Given the description of an element on the screen output the (x, y) to click on. 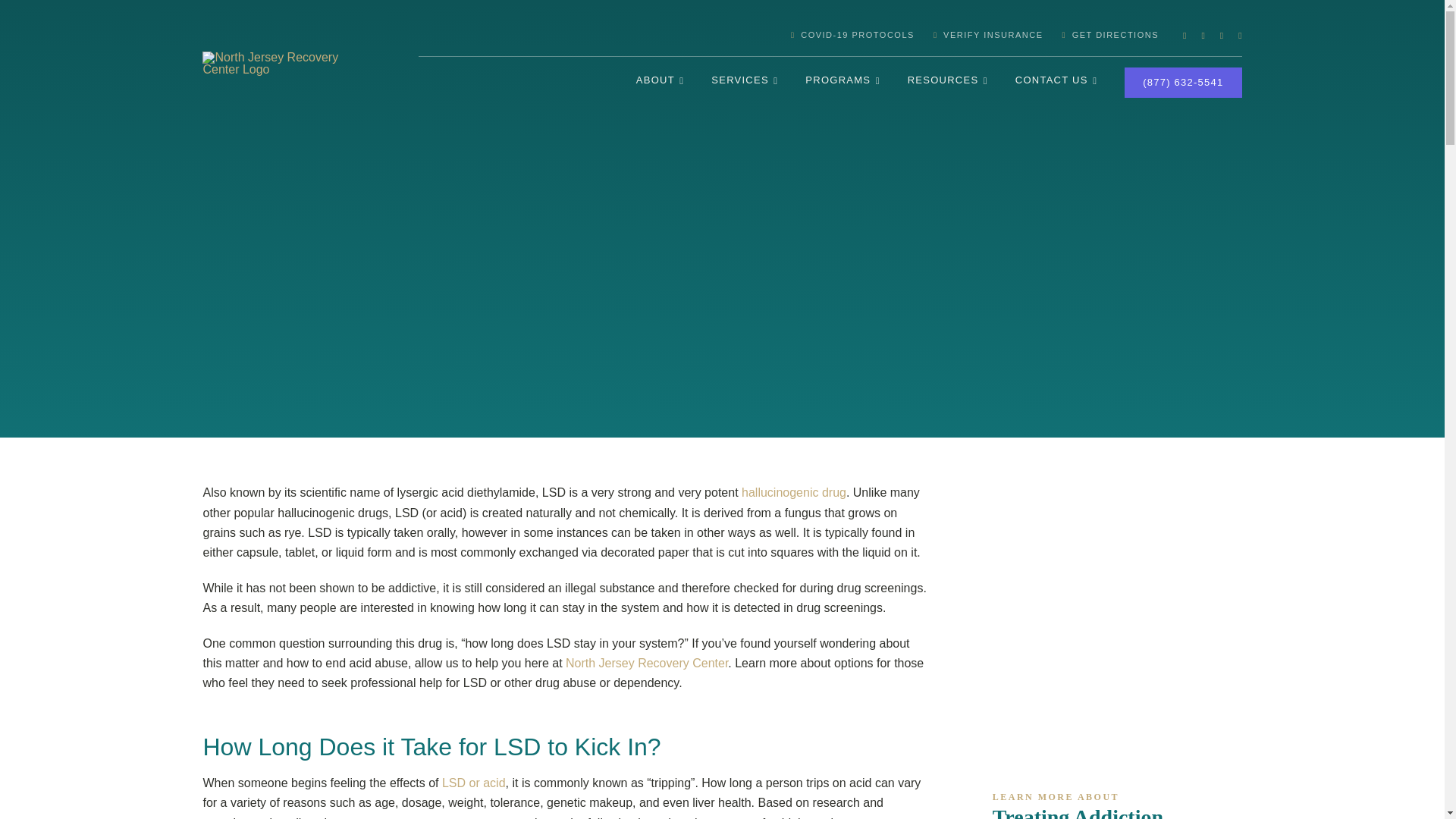
PROGRAMS (842, 82)
VERIFY INSURANCE (978, 34)
COVID-19 PROTOCOLS (842, 34)
GET DIRECTIONS (1100, 34)
ABOUT (660, 82)
SERVICES (744, 82)
